Given the description of an element on the screen output the (x, y) to click on. 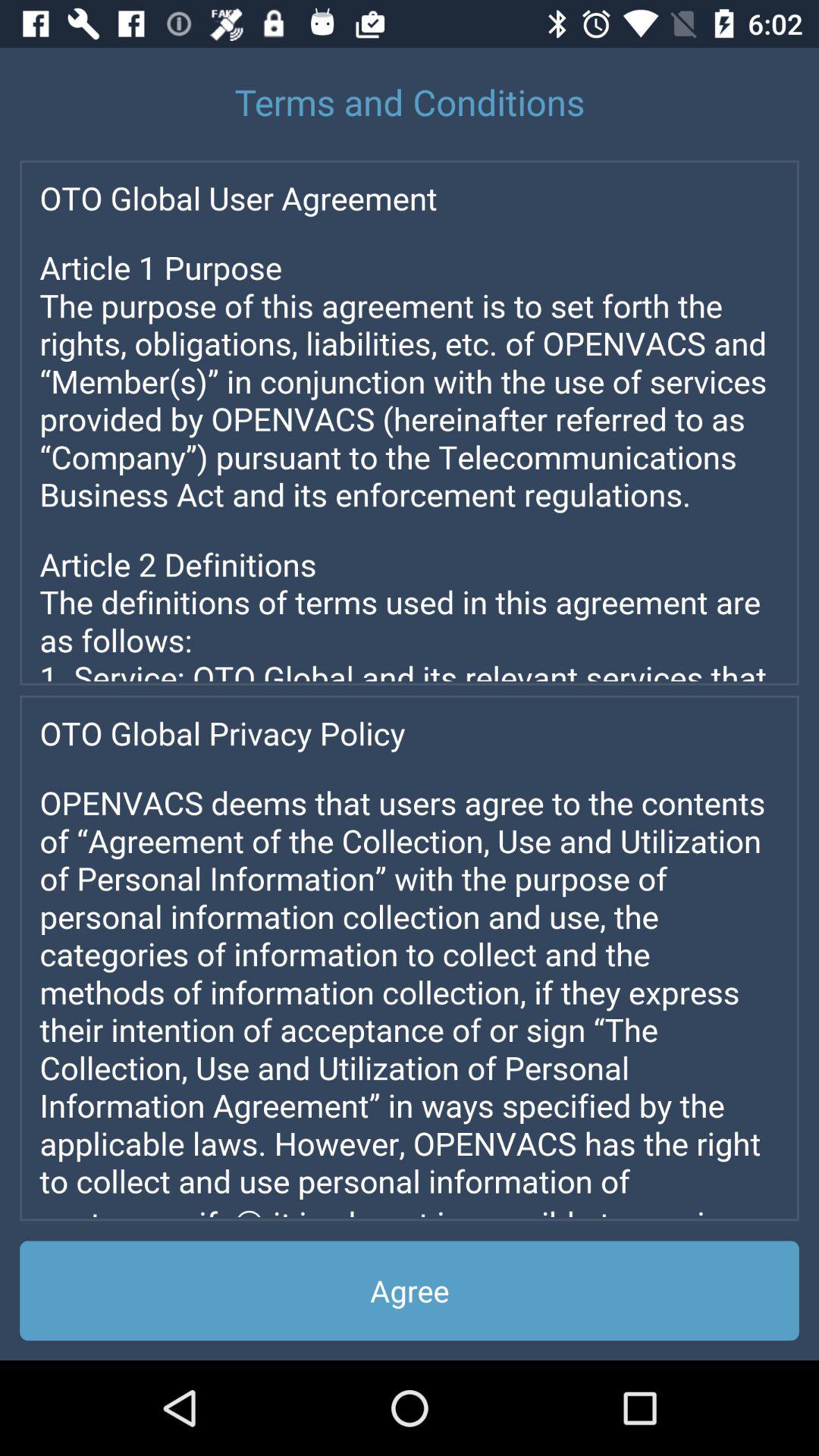
text image (409, 958)
